Given the description of an element on the screen output the (x, y) to click on. 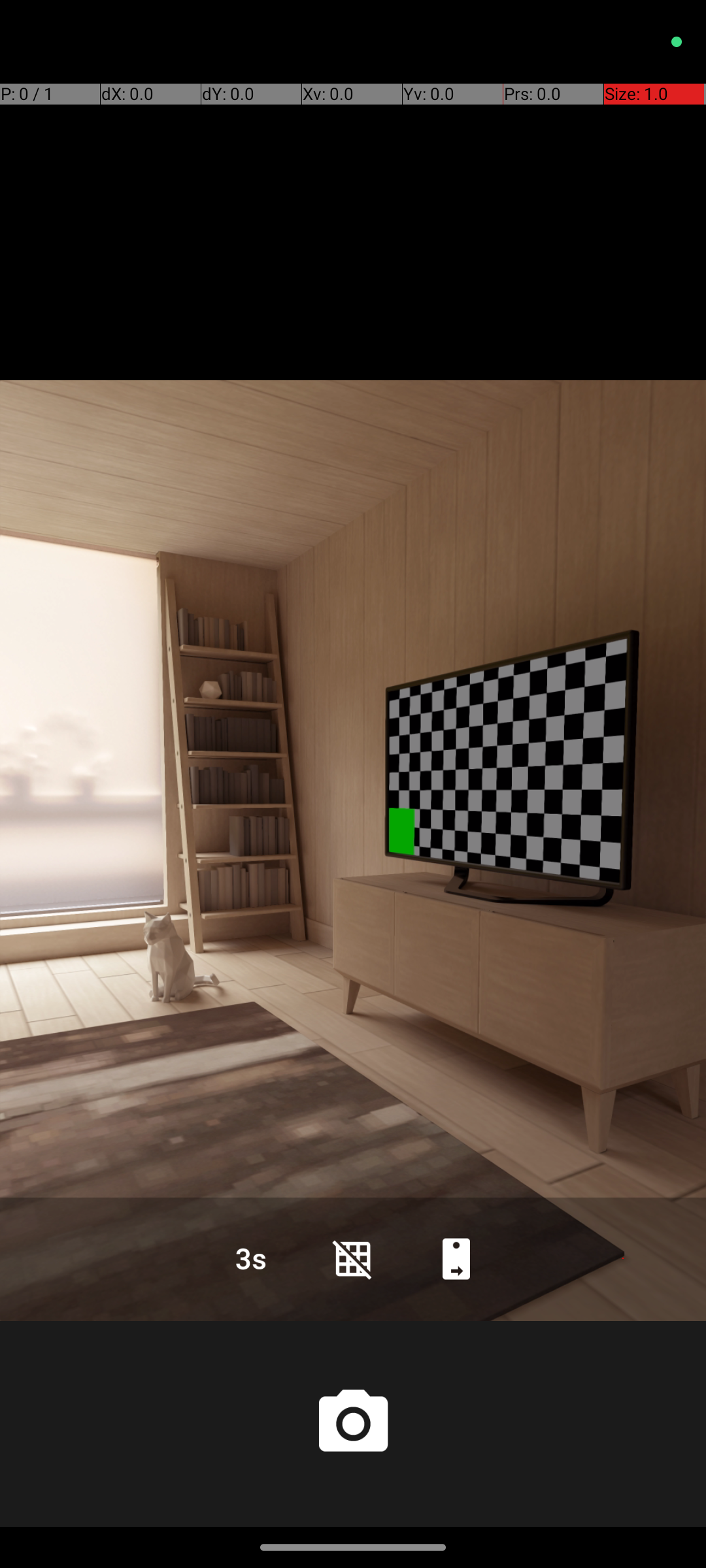
Countdown timer duration is set to 3 seconds Element type: android.widget.ImageButton (249, 1258)
Grid lines off Element type: android.widget.ImageButton (352, 1258)
Back camera Element type: android.widget.ImageButton (456, 1258)
